Given the description of an element on the screen output the (x, y) to click on. 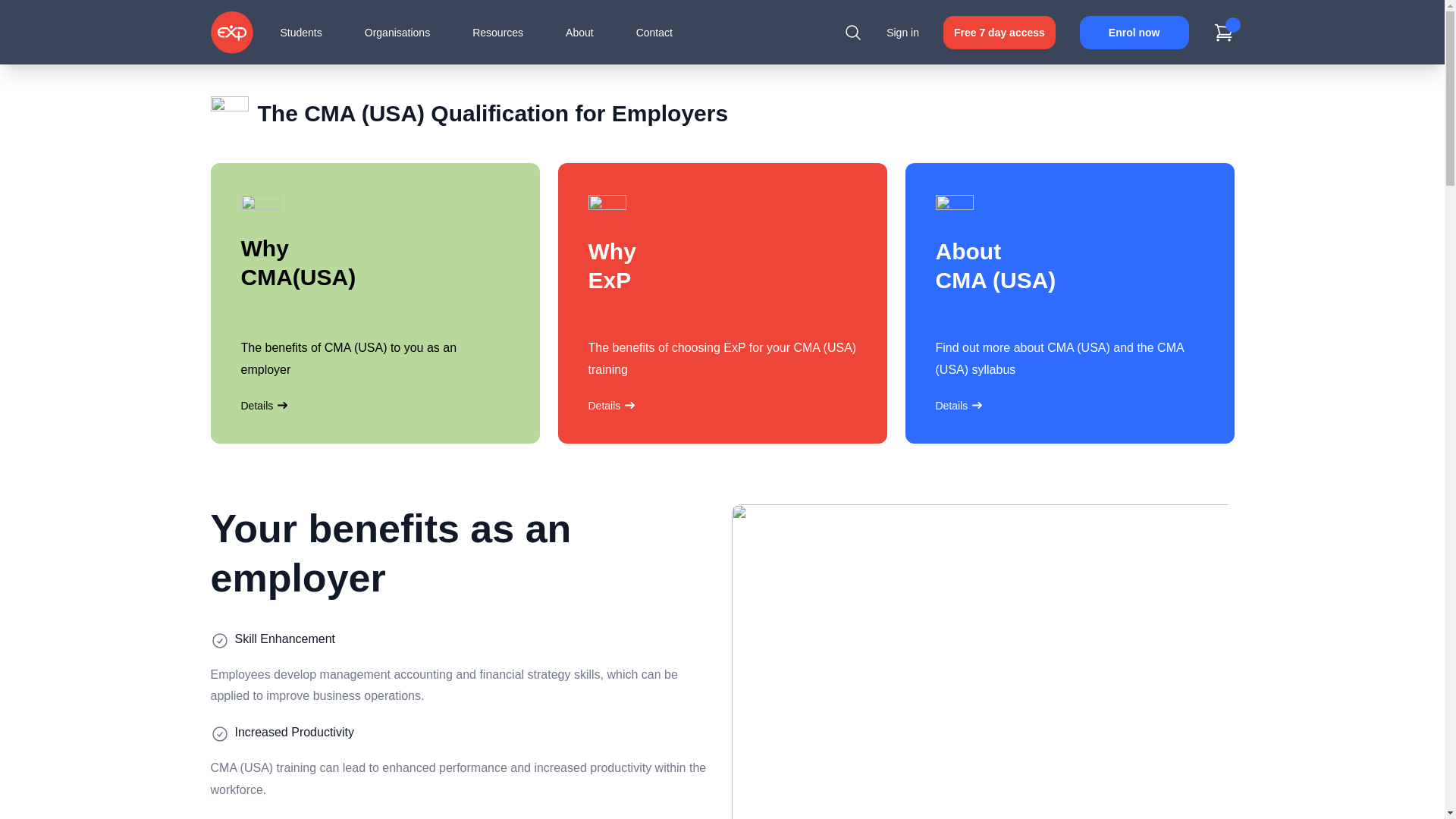
Contact (654, 31)
Search (852, 31)
Go to your Cart (1223, 31)
Enrol now (1134, 31)
Sign in (902, 31)
Free 7 day access (999, 31)
